Given the description of an element on the screen output the (x, y) to click on. 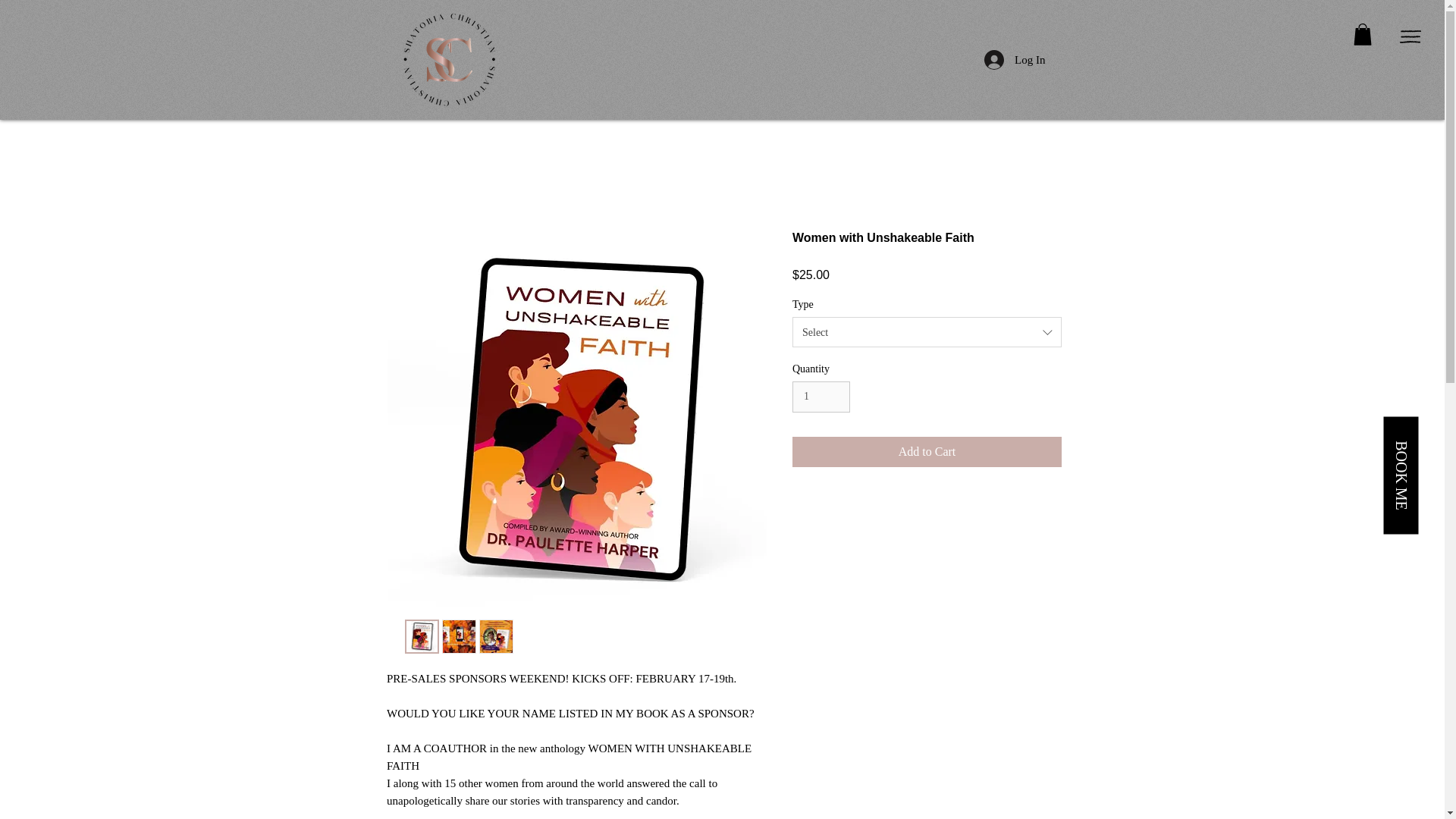
SubmarkLogo.png (448, 59)
Log In (1014, 59)
Select (926, 331)
Add to Cart (926, 451)
1 (821, 396)
